Given the description of an element on the screen output the (x, y) to click on. 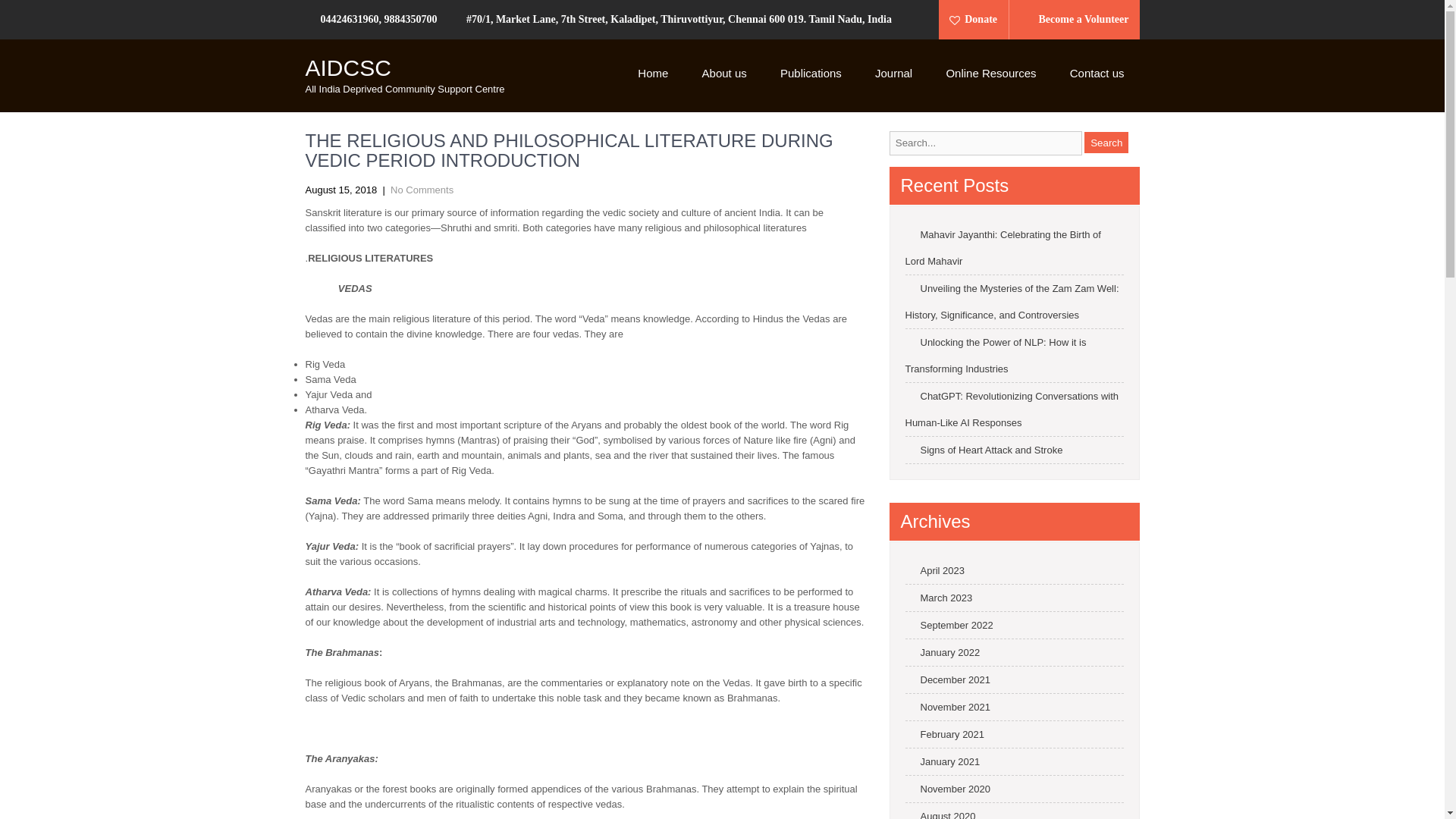
Home (652, 73)
Contact us (1097, 73)
Donate (979, 19)
Search (1106, 142)
About us (724, 73)
Search (1106, 142)
Become a Volunteer (1076, 19)
Online Resources (990, 73)
Publications (811, 73)
AIDCSC (347, 67)
Journal (893, 73)
No Comments (421, 189)
